Given the description of an element on the screen output the (x, y) to click on. 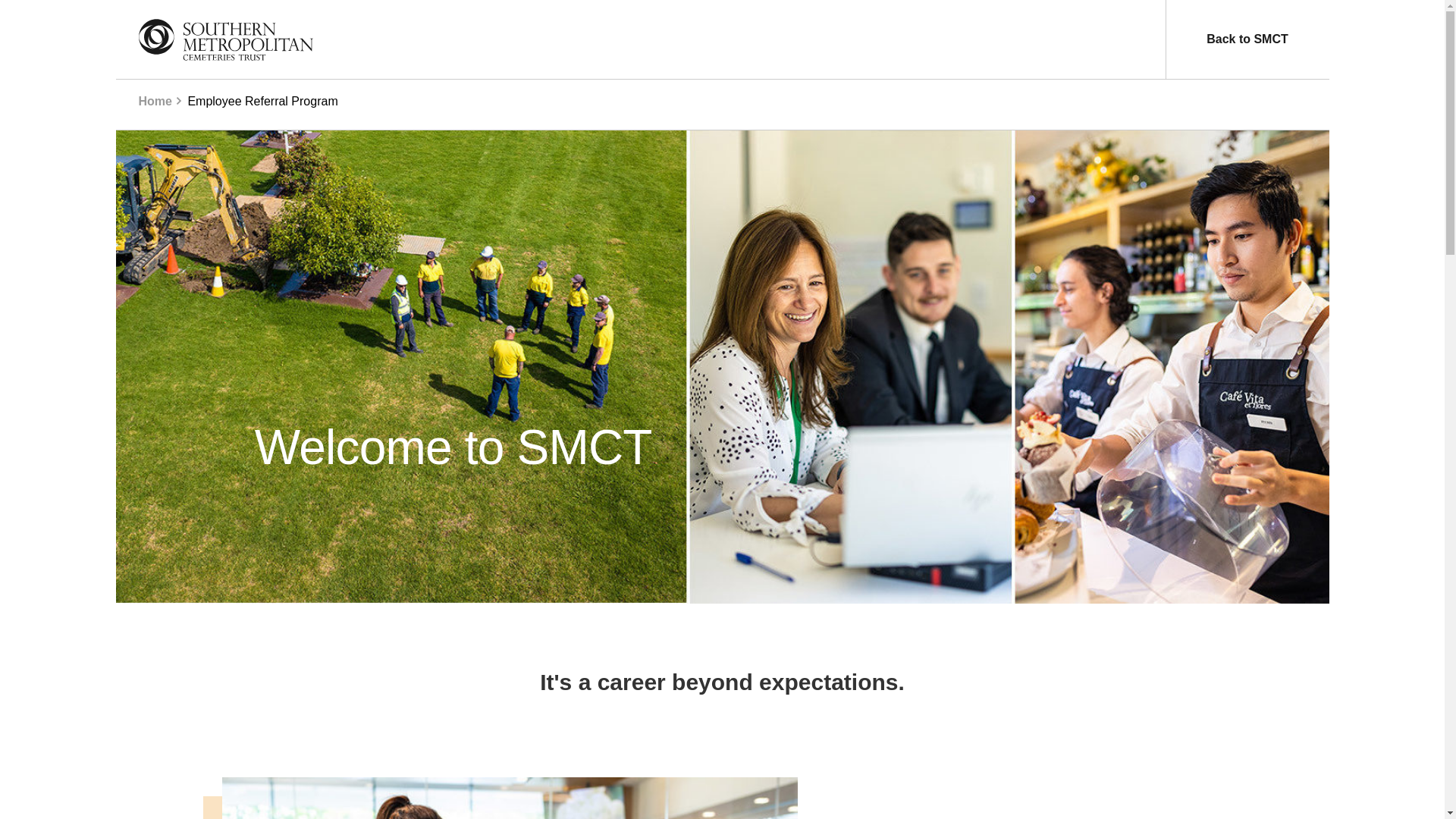
Back to SMCT (1247, 39)
Home (154, 101)
Southern Metropolitan Cemeteries Trust (225, 39)
